Given the description of an element on the screen output the (x, y) to click on. 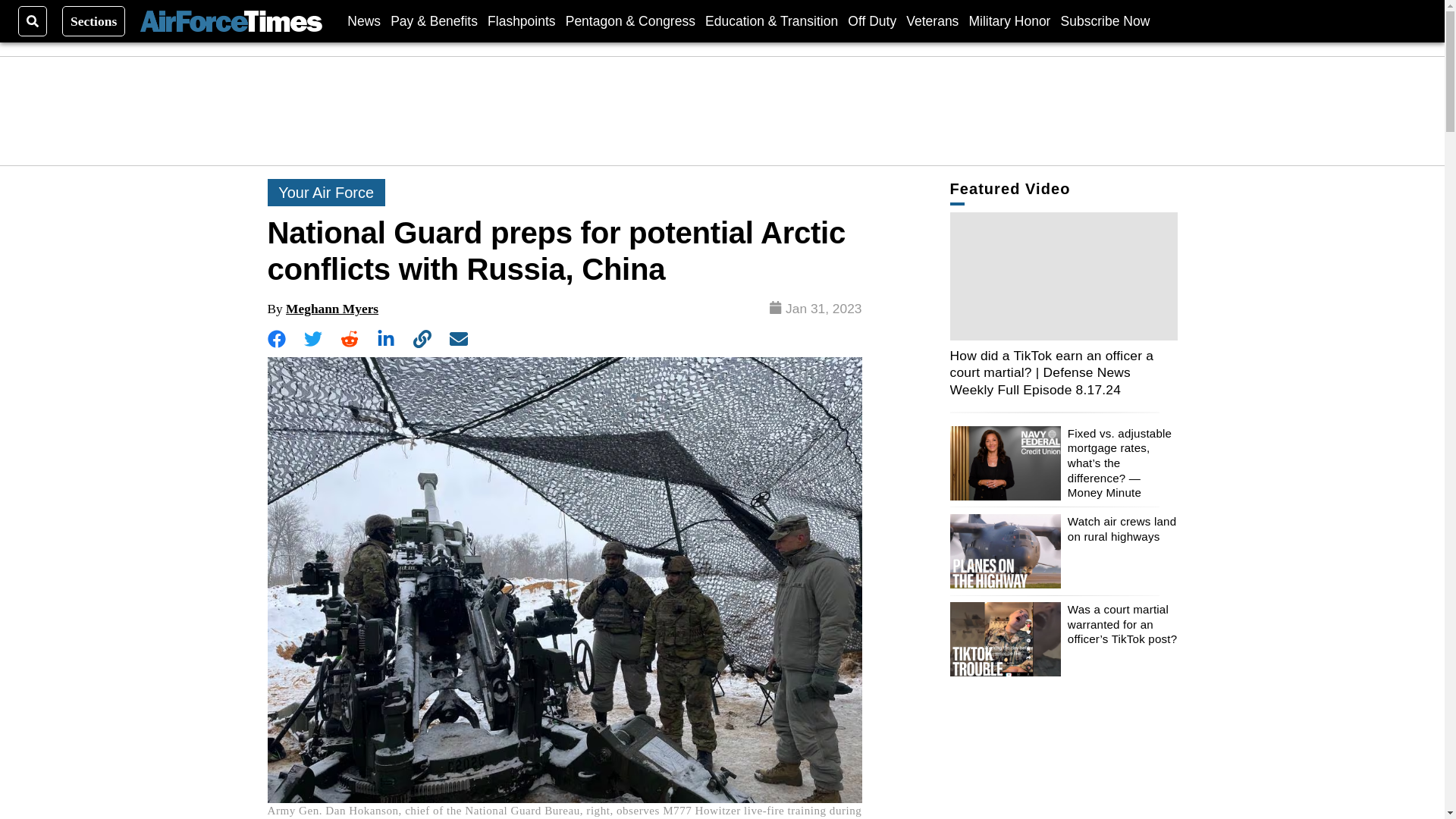
Flashpoints (521, 20)
News (363, 20)
Sections (93, 20)
Air Force Times Logo (230, 20)
Off Duty (871, 20)
Veterans (931, 20)
Military Honor (1010, 20)
